Given the description of an element on the screen output the (x, y) to click on. 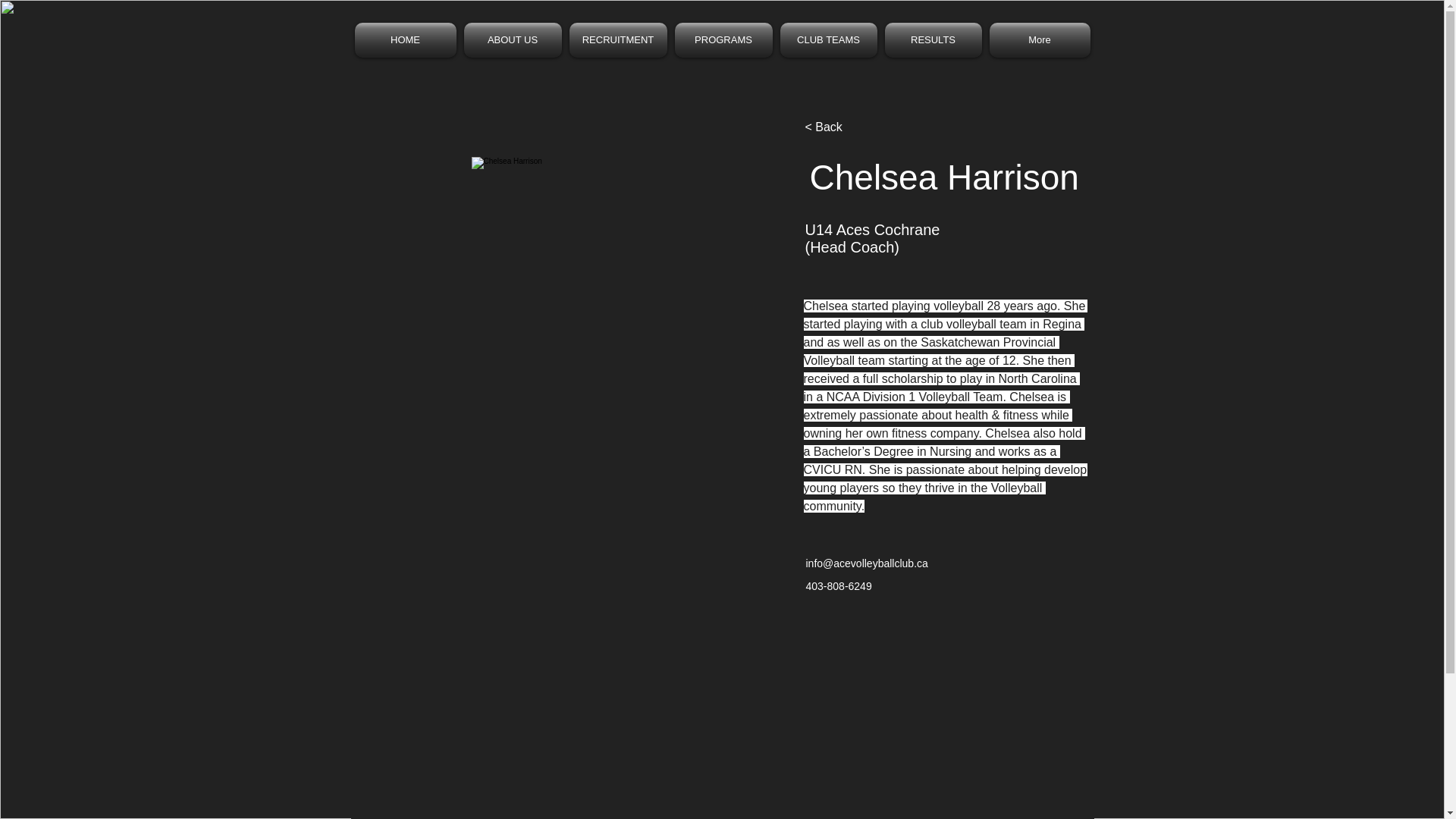
PROGRAMS (722, 39)
RECRUITMENT (618, 39)
CLUB TEAMS (828, 39)
HOME (407, 39)
20240226 ACE Cochrane 2024 DH 0066.jpg (619, 305)
ABOUT US (512, 39)
